Given the description of an element on the screen output the (x, y) to click on. 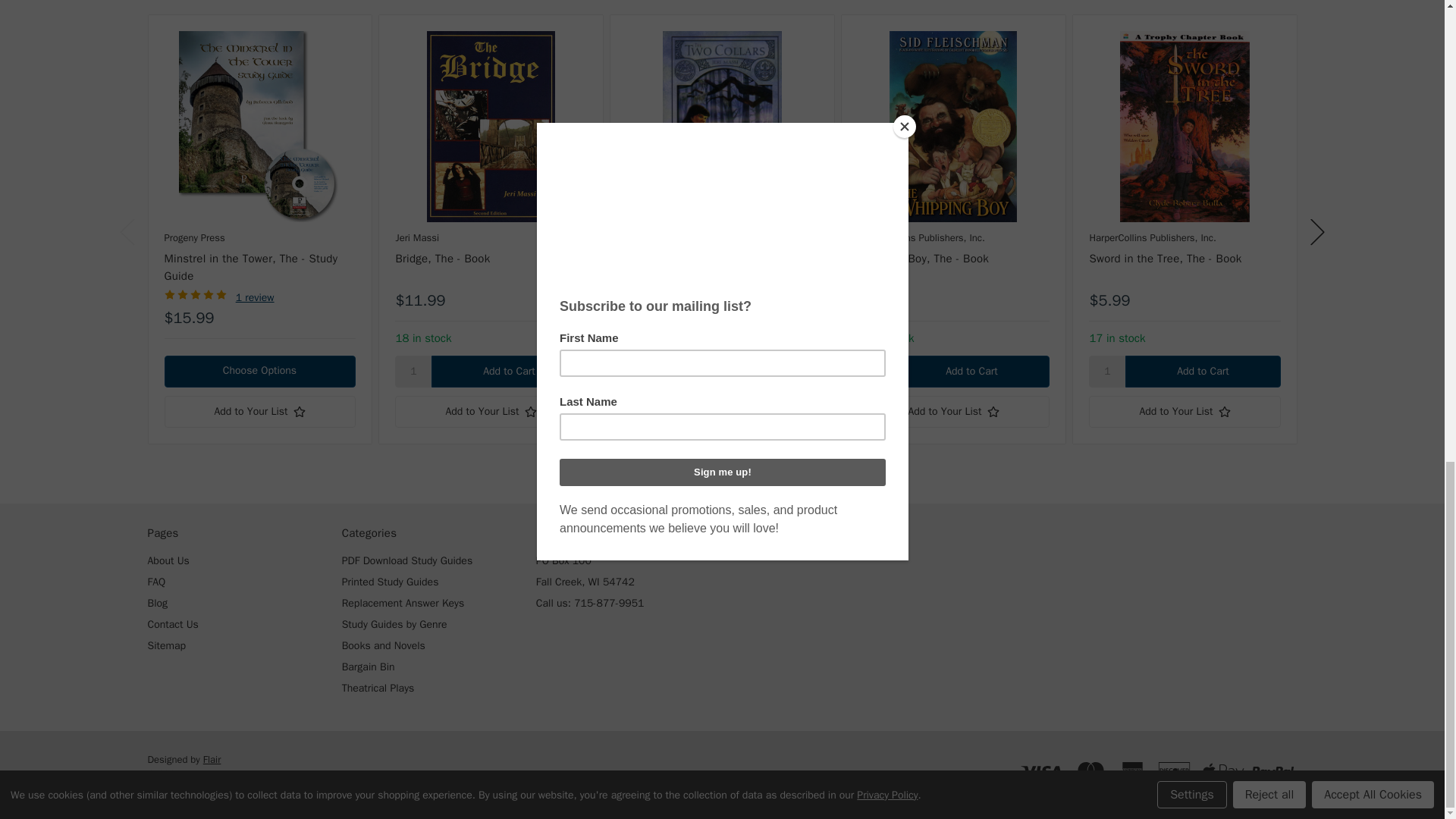
Add to Your List (952, 411)
Add to Cart (739, 371)
Add to Cart (508, 371)
Add to Your List (721, 411)
The Bridge literature story books (490, 126)
1 (644, 371)
1 (1107, 371)
Add to Your List (490, 411)
1 (875, 371)
1 (412, 371)
Add to Your List (259, 411)
Add to Cart (970, 371)
The Two Collars literature story book (721, 126)
